Given the description of an element on the screen output the (x, y) to click on. 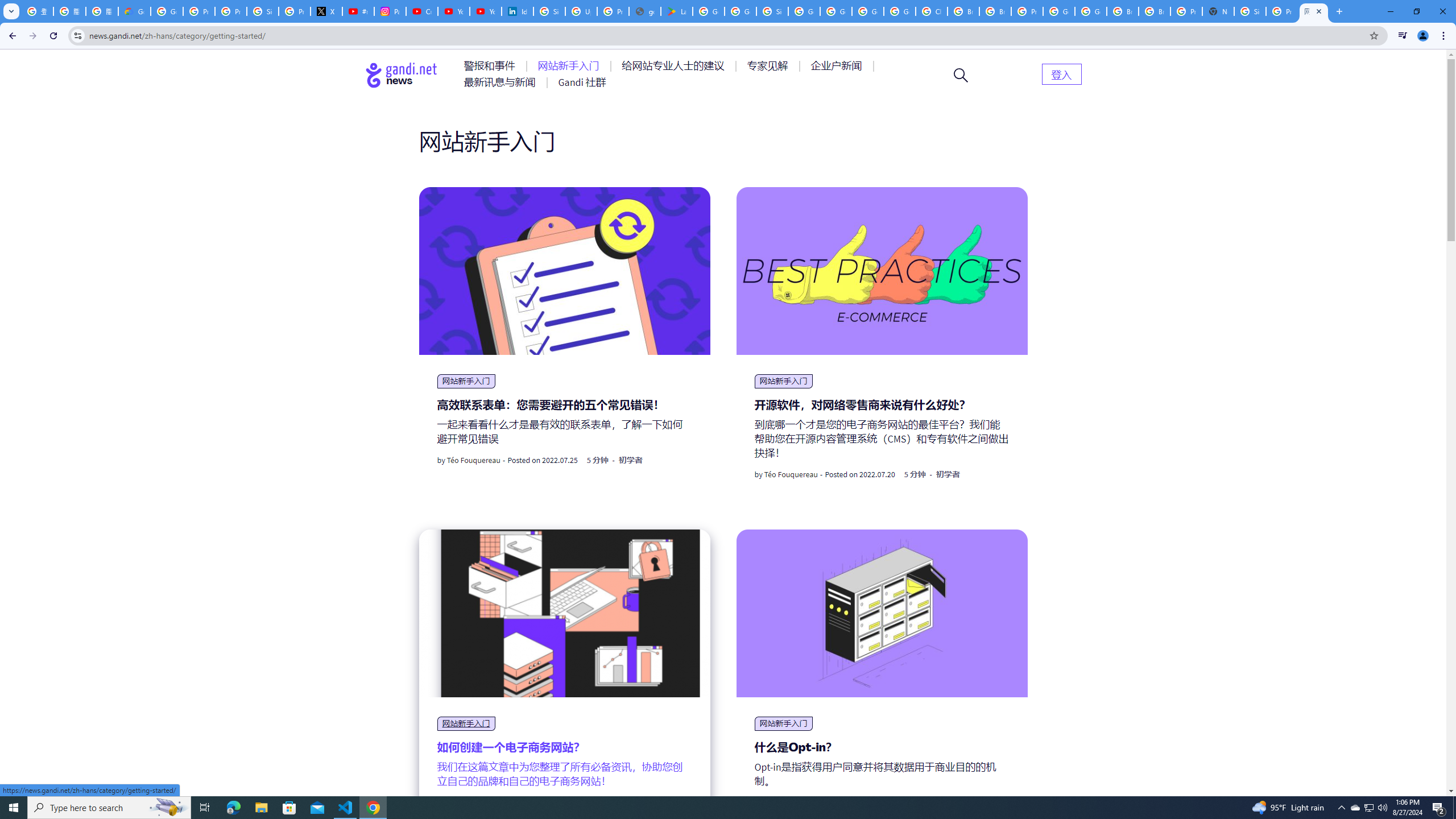
Last Shelter: Survival - Apps on Google Play (676, 11)
Google Cloud Privacy Notice (134, 11)
